Given the description of an element on the screen output the (x, y) to click on. 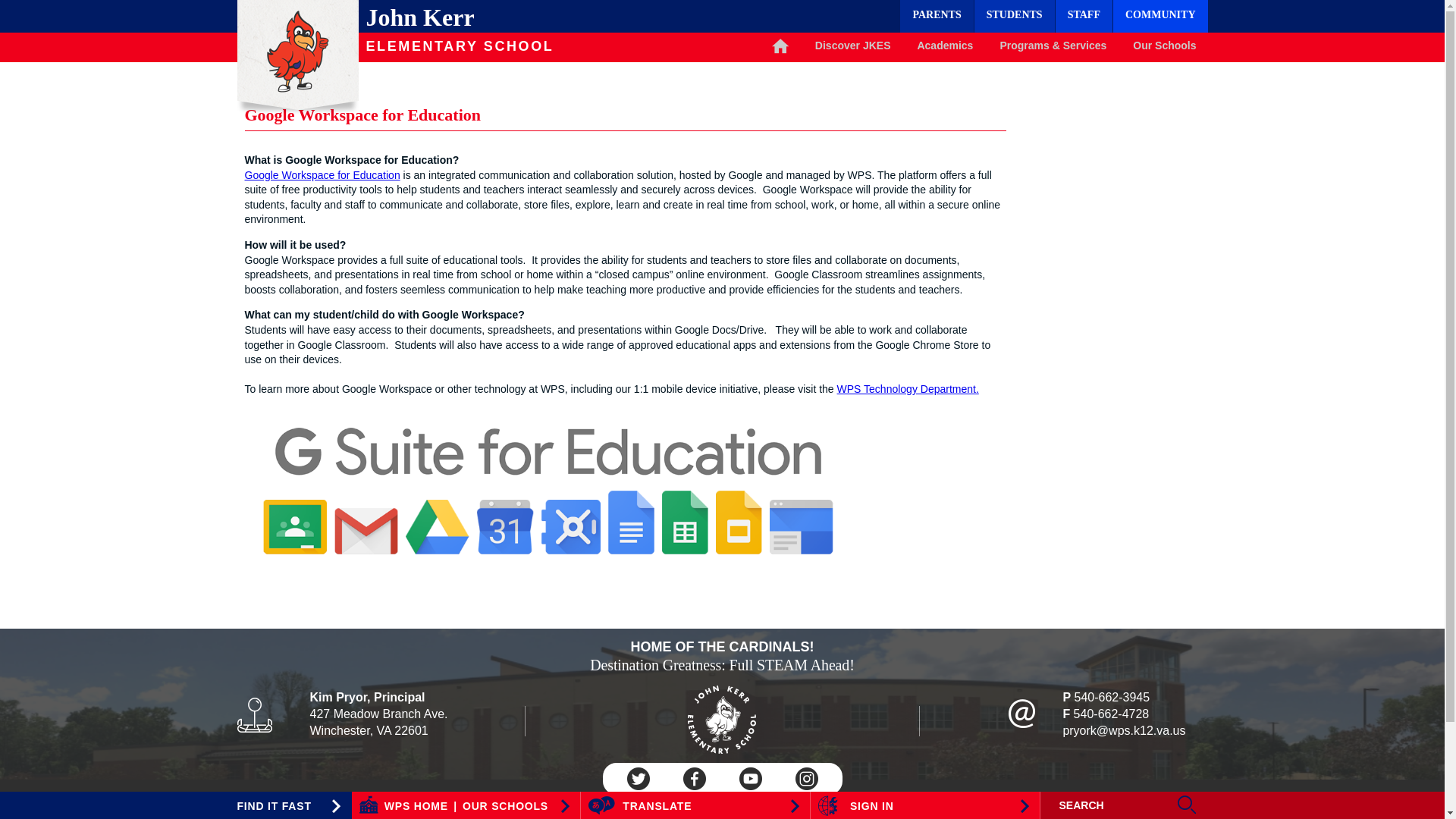
Discover JKES (852, 47)
PARENTS (935, 16)
G Suite for Education (547, 490)
SEARCH (1110, 805)
COMMUNITY (1160, 16)
STAFF (1083, 16)
STUDENTS (1014, 16)
